Given the description of an element on the screen output the (x, y) to click on. 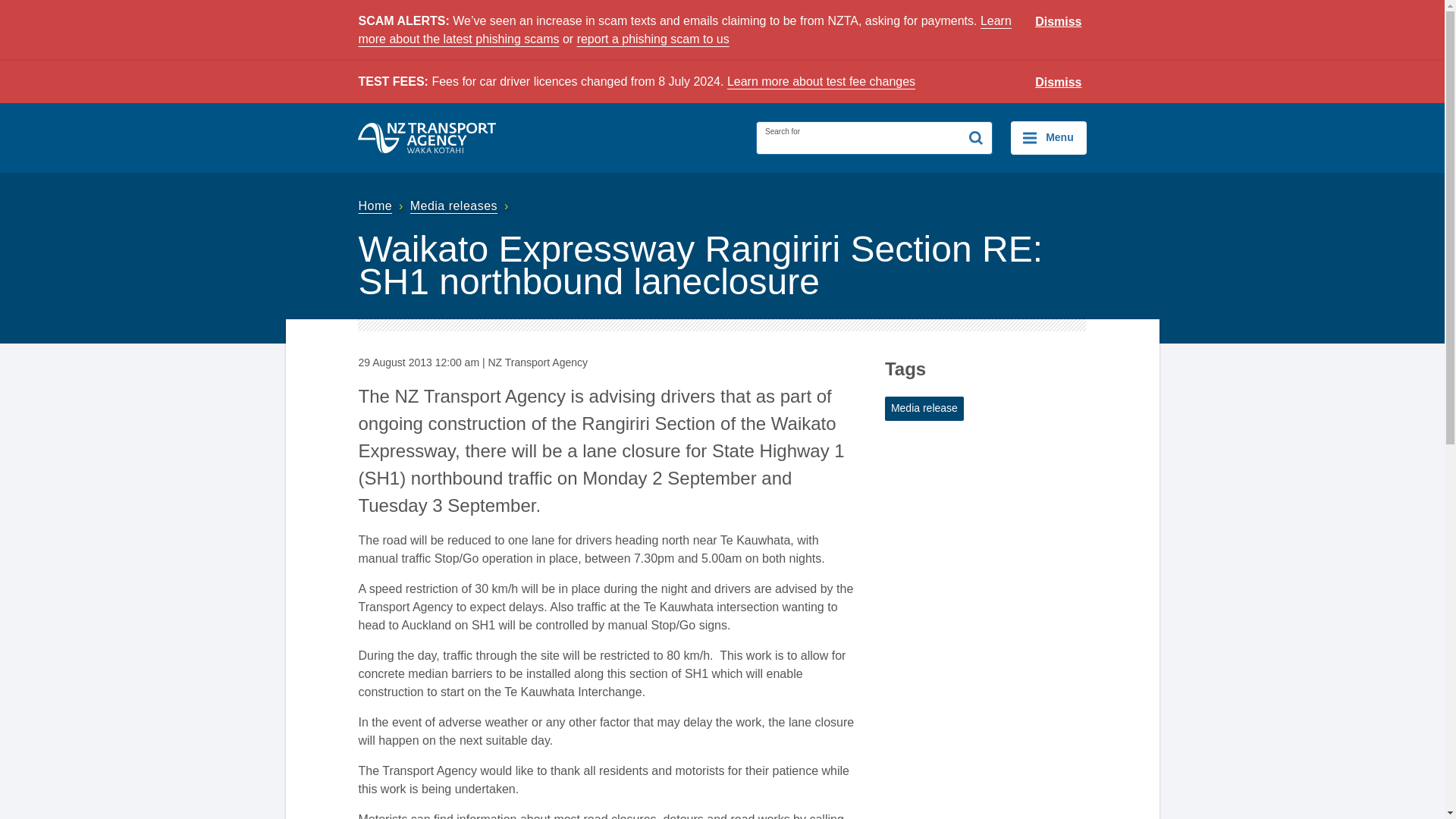
Home (382, 205)
View all posts tagged 'Media release' (924, 408)
Learn more about test fee changes (820, 81)
Dismiss (1058, 21)
Learn more about the latest phishing scams (684, 29)
NZ Transport Agency Waka Kotahi (427, 137)
report a phishing scam to us (652, 38)
Dismiss (1058, 82)
Menu (1048, 137)
